Given the description of an element on the screen output the (x, y) to click on. 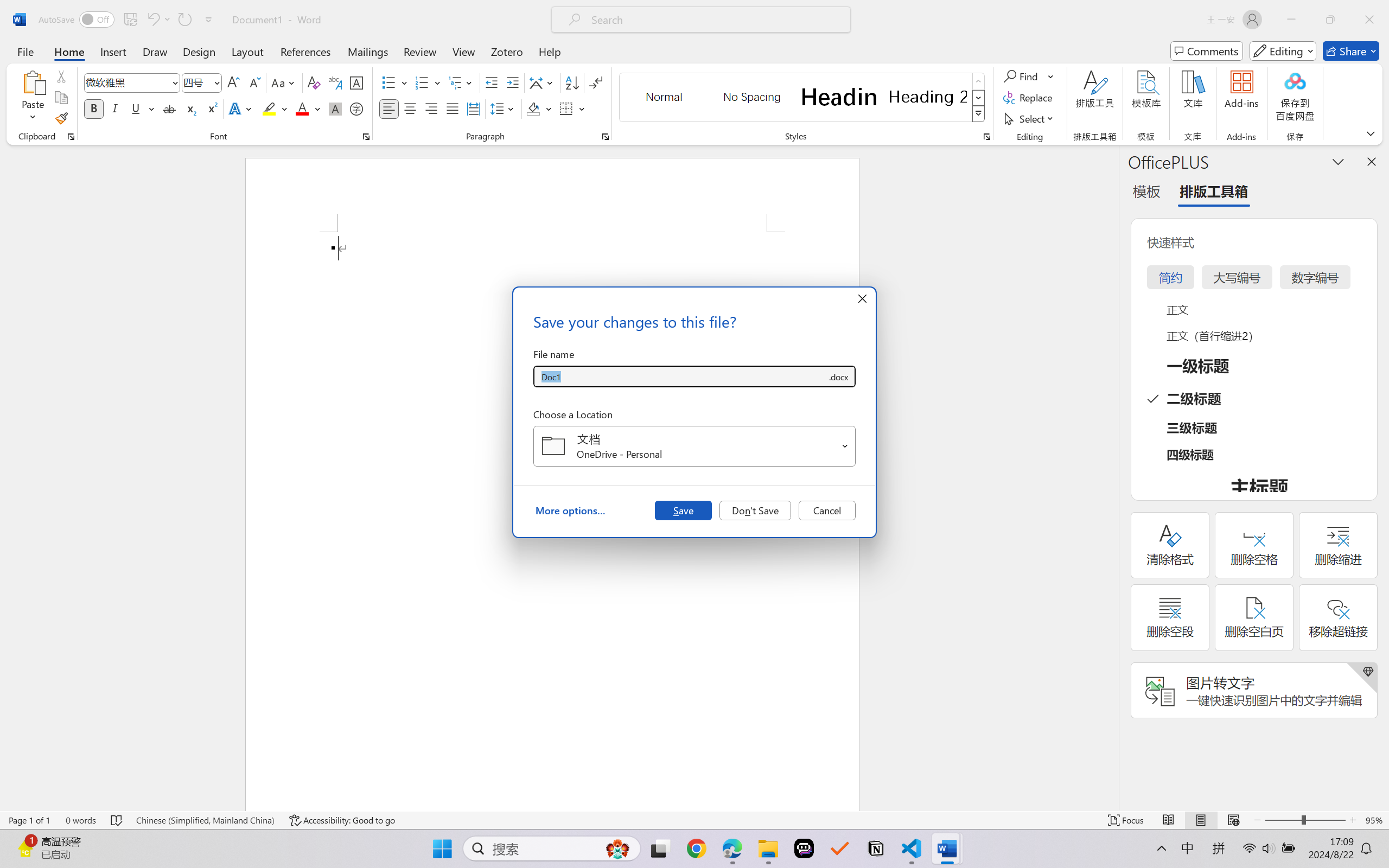
AutomationID: QuickStylesGallery (802, 97)
Font Color Red (302, 108)
